Given the description of an element on the screen output the (x, y) to click on. 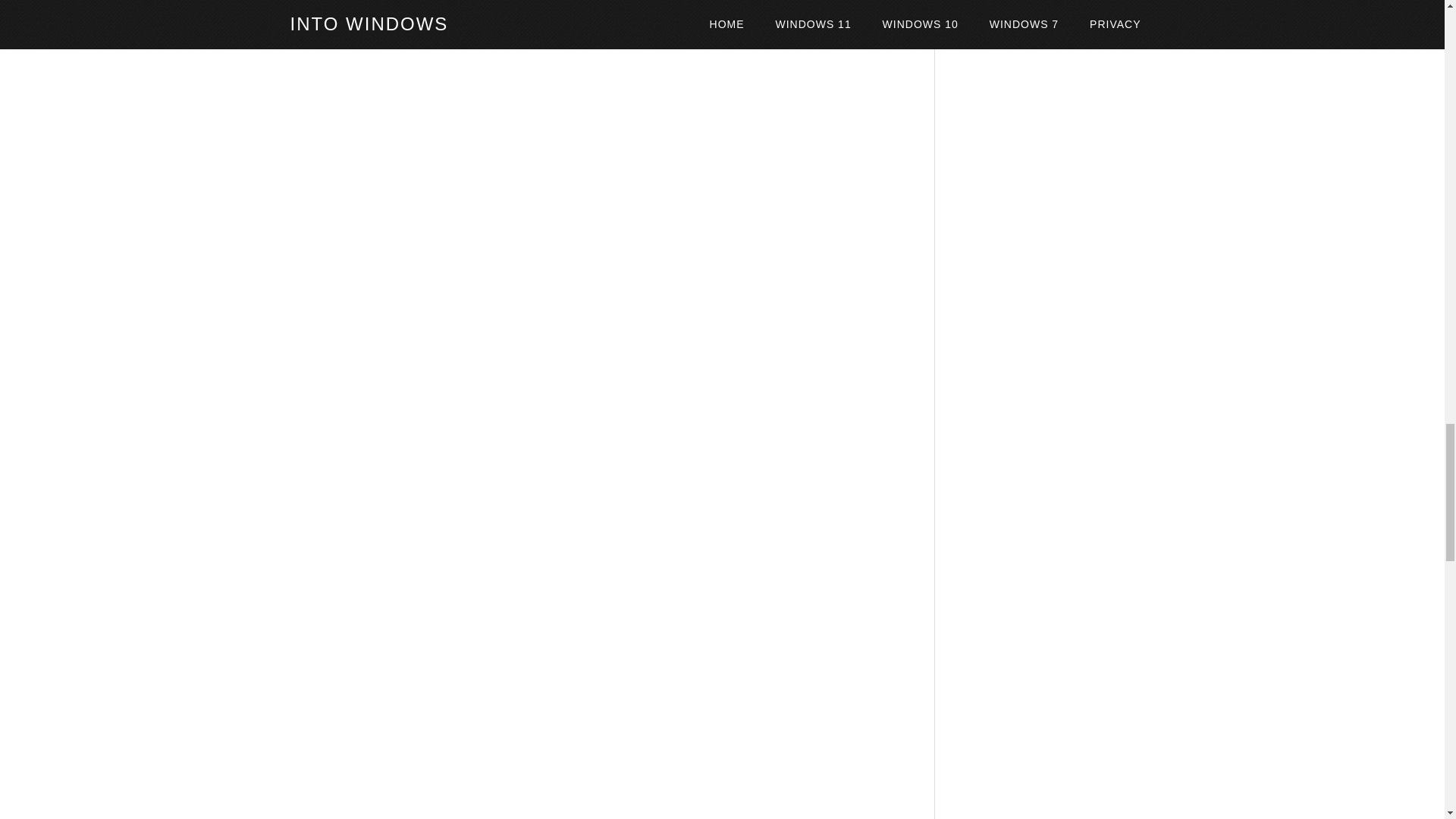
Advertisement (595, 233)
Advertisement (595, 737)
